Given the description of an element on the screen output the (x, y) to click on. 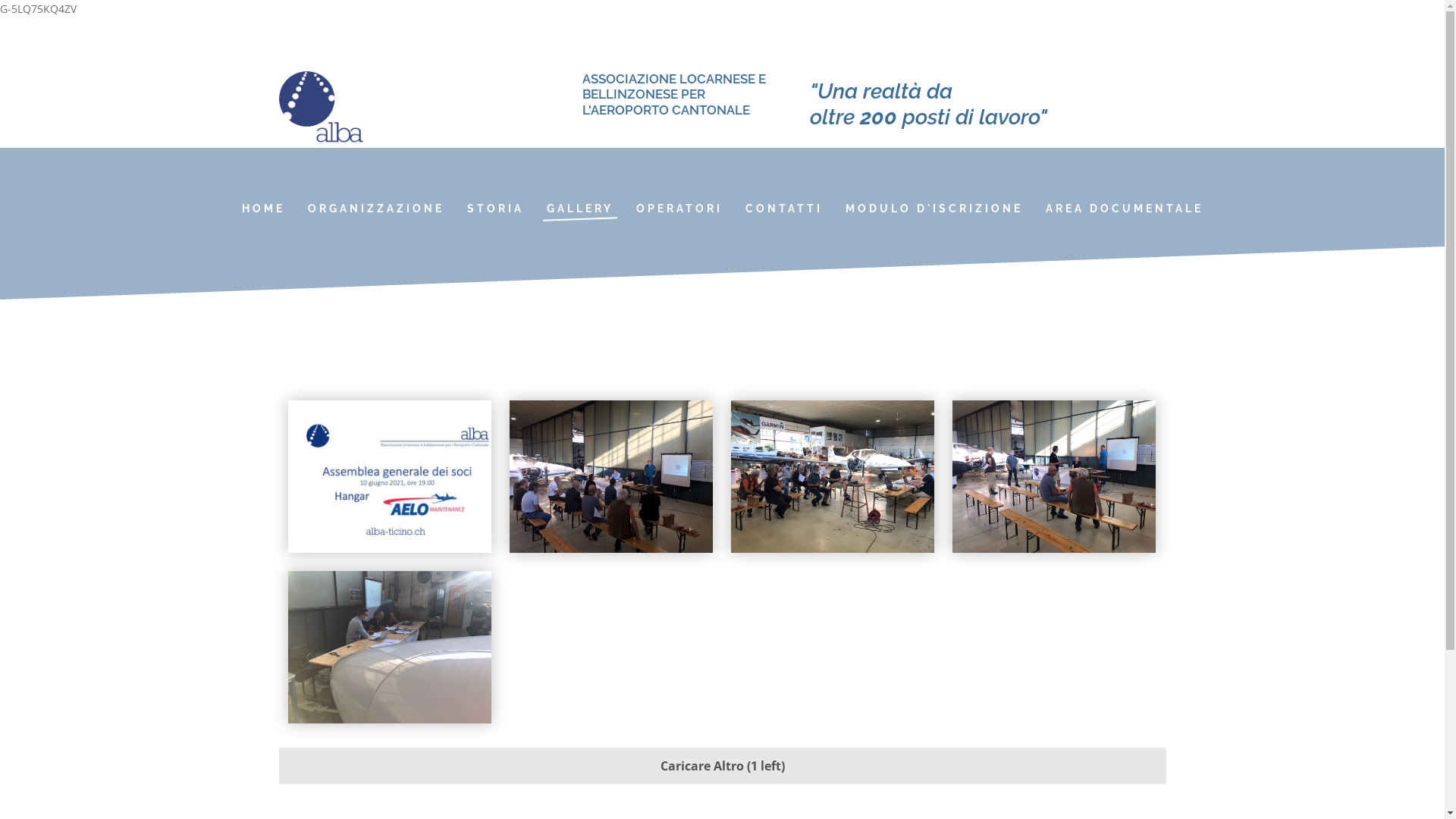
OPERATORI Element type: text (679, 208)
GALLERY Element type: text (579, 208)
STORIA Element type: text (494, 208)
MODULO D'ISCRIZIONE Element type: text (933, 208)
Caricare Altro (1 left) Element type: text (722, 765)
AREA DOCUMENTALE Element type: text (1124, 208)
CONTATTI Element type: text (783, 208)
ORGANIZZAZIONE Element type: text (375, 208)
HOME Element type: text (263, 208)
